Given the description of an element on the screen output the (x, y) to click on. 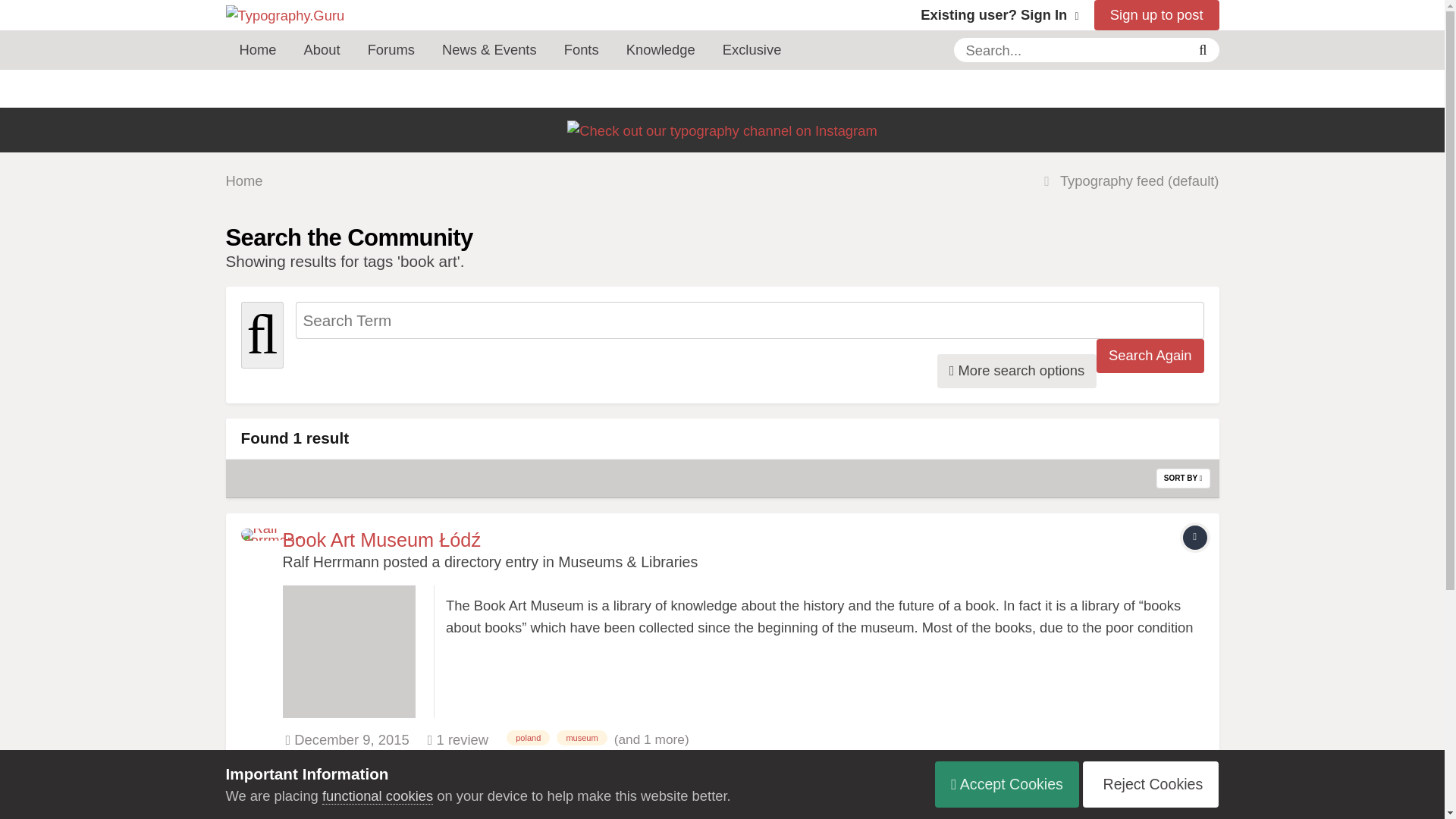
Sign up to post (1157, 15)
Find other content tagged with 'museum' (581, 737)
Knowledge (660, 49)
Go to Ralf Herrmann's profile (258, 544)
About (321, 49)
Home (244, 180)
Forums (390, 49)
Go to Ralf Herrmann's profile (330, 561)
Fonts (581, 49)
Check out our typography channel on Instagram (722, 130)
Find other content tagged with 'poland' (528, 737)
Home (244, 810)
Exclusive (751, 49)
Available RSS feeds (1206, 808)
Home (257, 49)
